Given the description of an element on the screen output the (x, y) to click on. 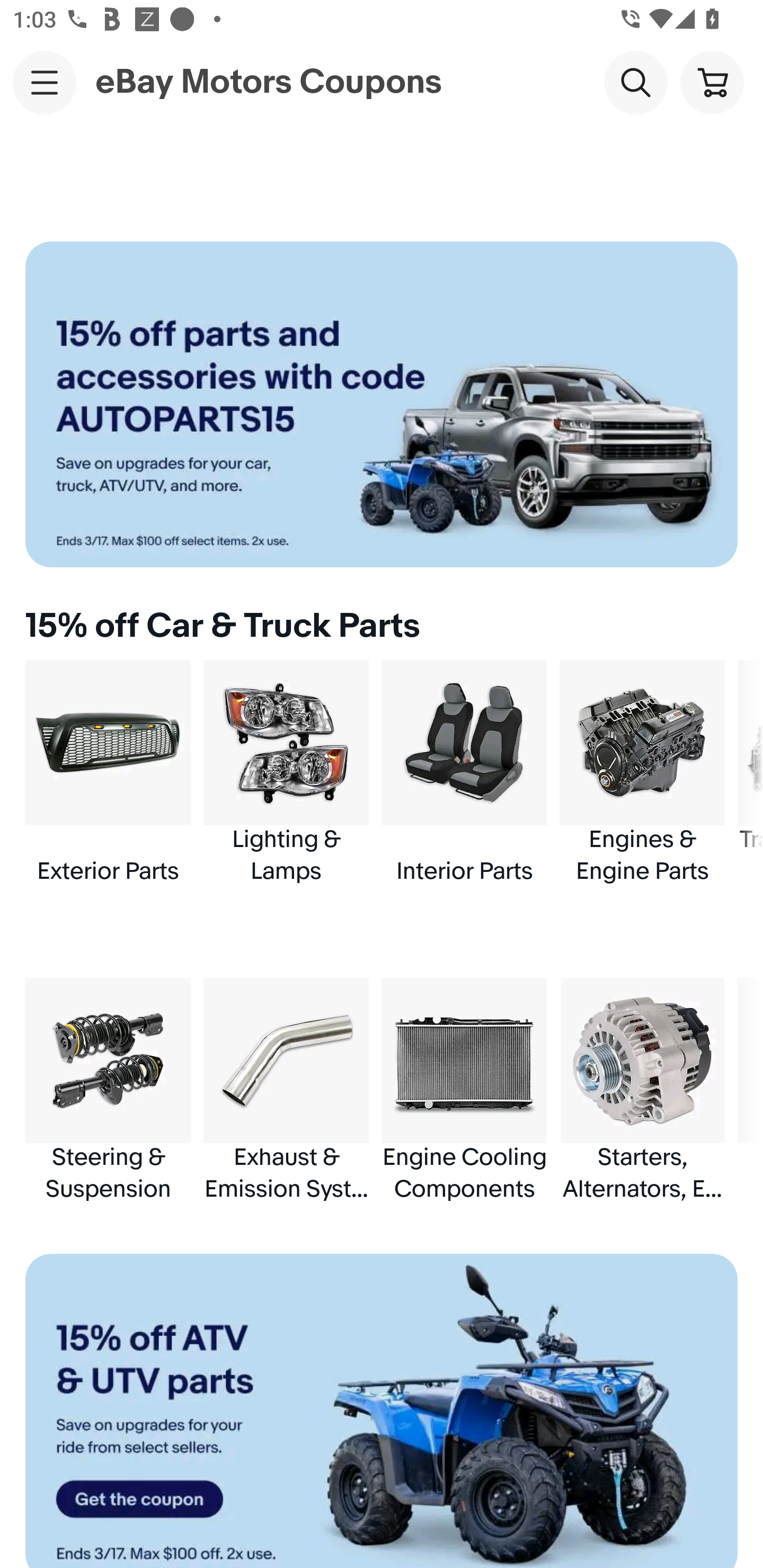
Main navigation, open (44, 82)
Search (635, 81)
Cart button shopping cart (711, 81)
15% off parts & accessories for your ride (381, 404)
Exterior Parts (107, 772)
Lighting & Lamps (285, 772)
Interior Parts (464, 772)
Engines & Engine Parts (641, 772)
Steering & Suspension (107, 1090)
Exhaust & Emission Systems (285, 1090)
Engine Cooling Components (464, 1090)
Starters, Alternators, ECUs & Wiring (641, 1090)
15% off atv and utv parts (381, 1411)
